Given the description of an element on the screen output the (x, y) to click on. 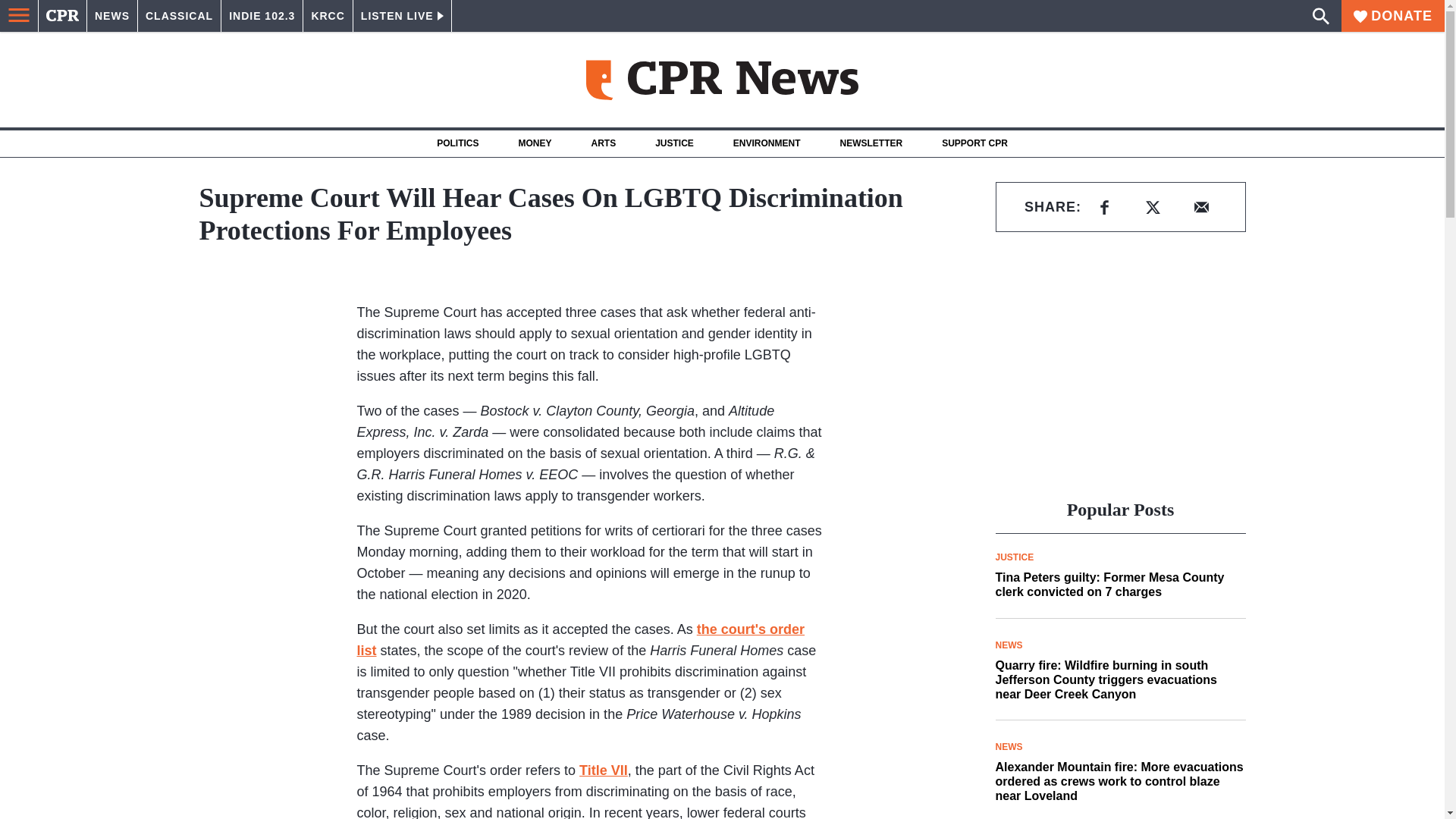
INDIE 102.3 (261, 15)
LISTEN LIVE (402, 15)
CLASSICAL (179, 15)
KRCC (327, 15)
NEWS (111, 15)
